Given the description of an element on the screen output the (x, y) to click on. 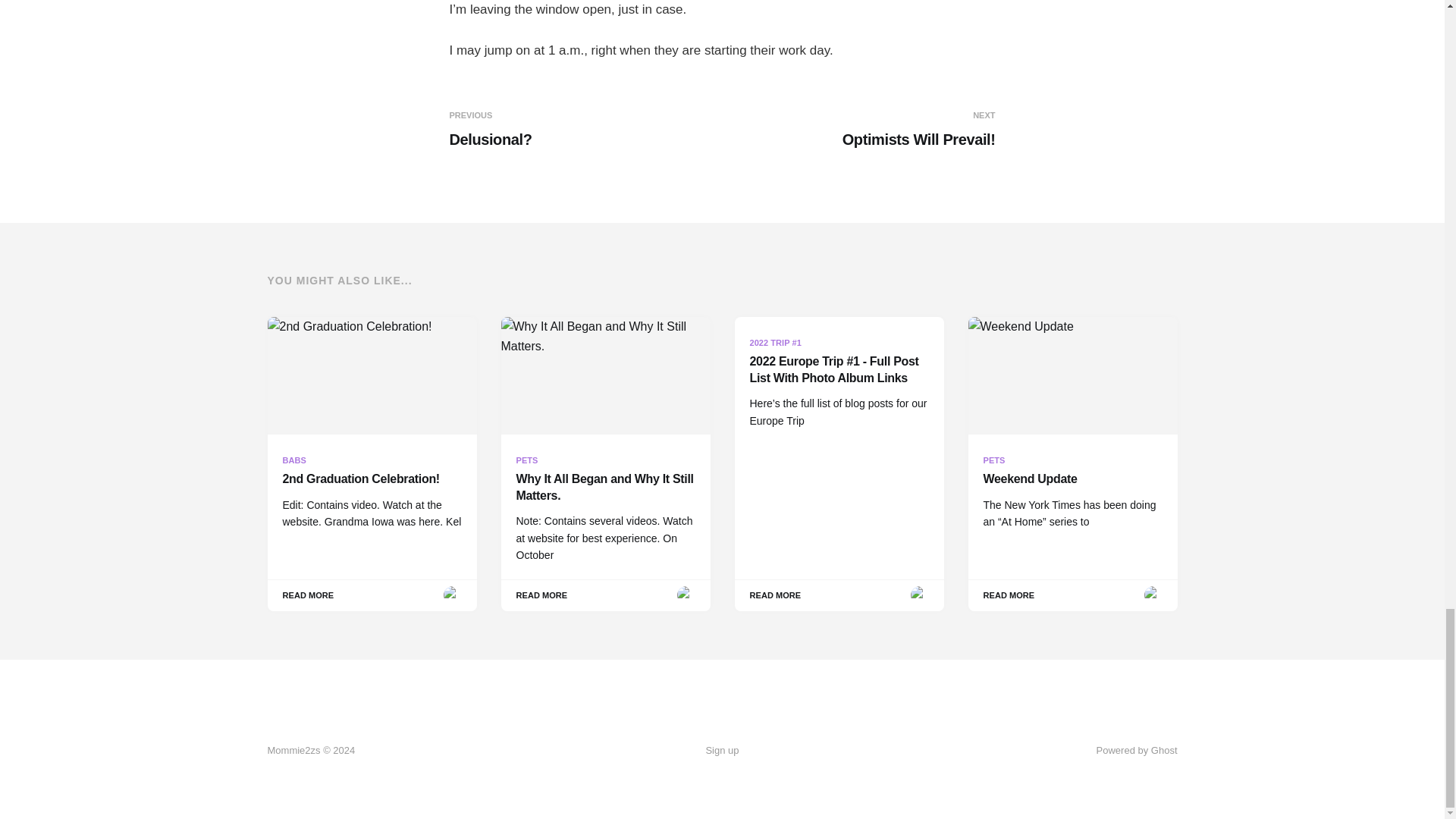
Powered by Ghost (1136, 749)
Sign up (861, 128)
